Given the description of an element on the screen output the (x, y) to click on. 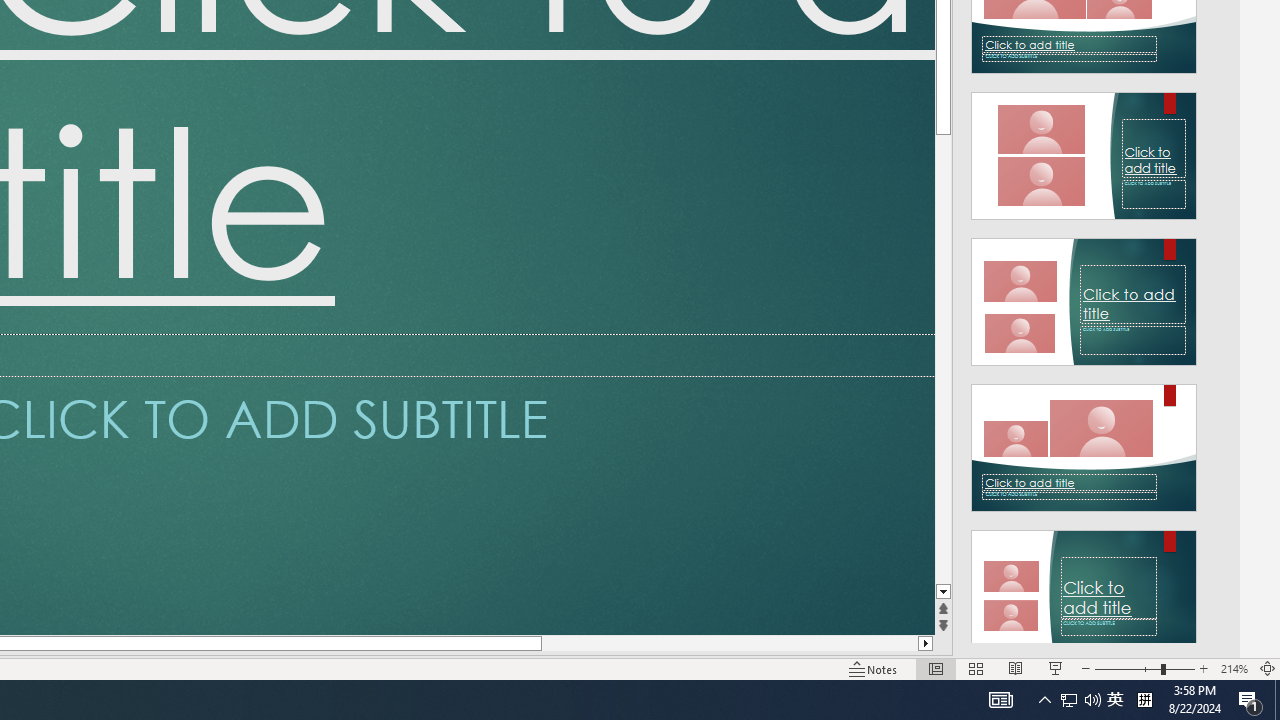
Design Idea (1083, 587)
Zoom 214% (1234, 668)
